Given the description of an element on the screen output the (x, y) to click on. 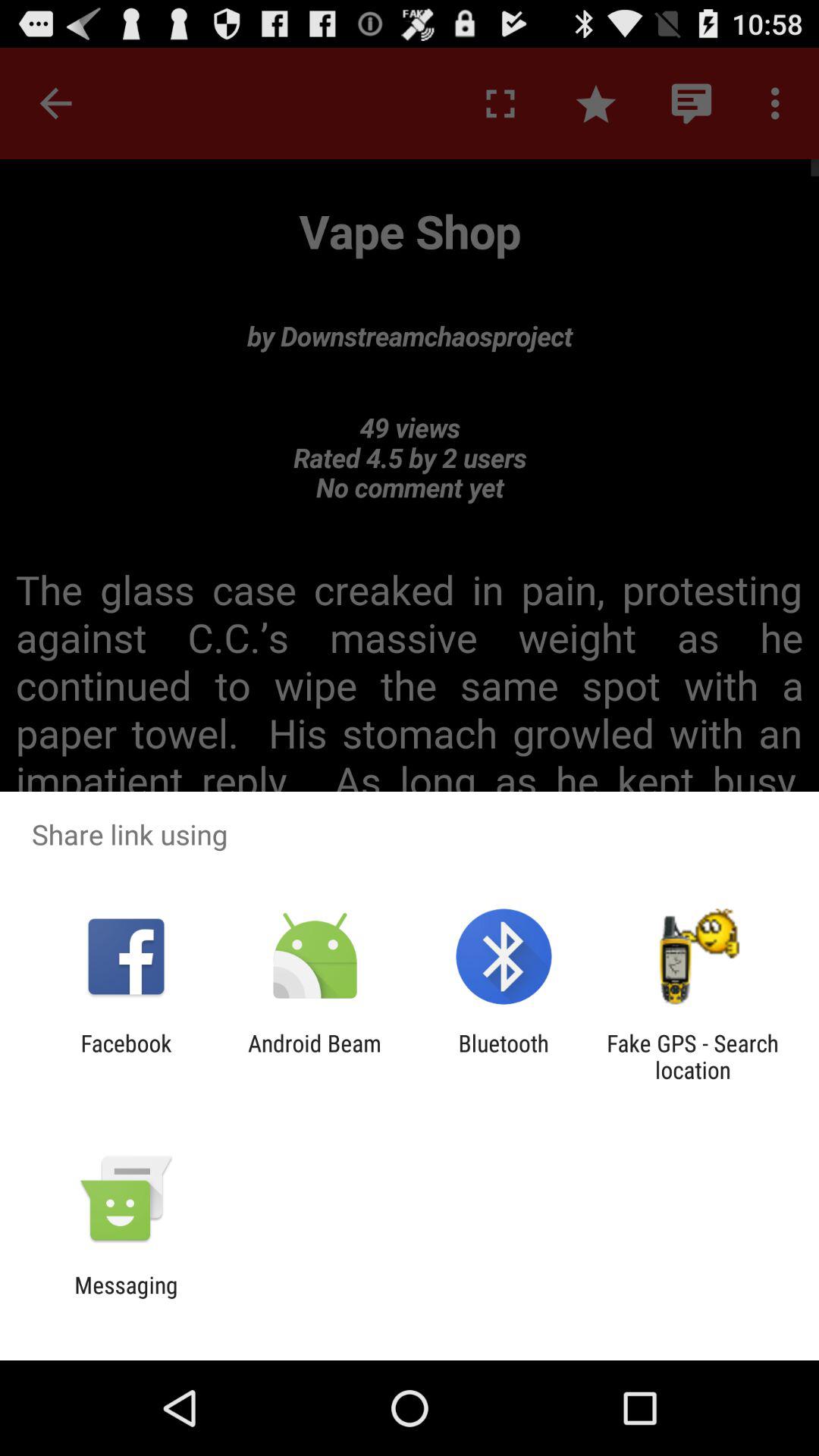
turn on the messaging icon (126, 1298)
